Given the description of an element on the screen output the (x, y) to click on. 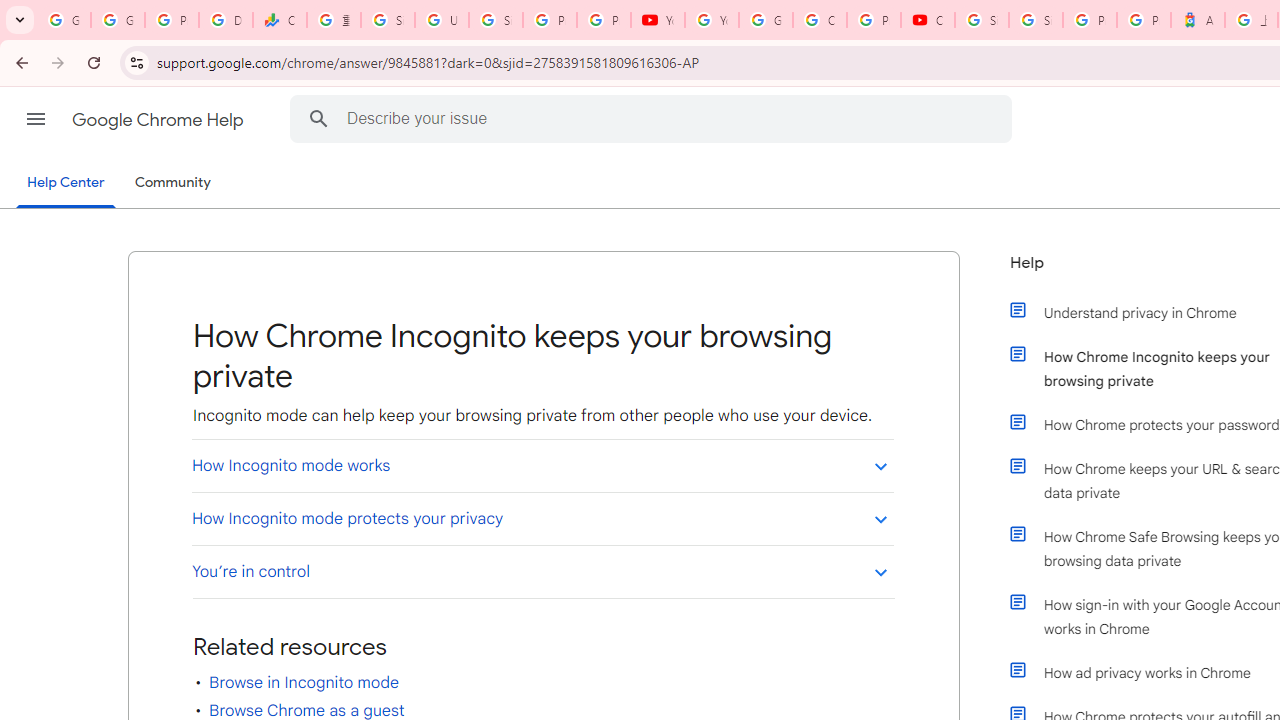
Sign in - Google Accounts (387, 20)
Google Account Help (765, 20)
YouTube (657, 20)
YouTube (711, 20)
Currencies - Google Finance (280, 20)
Create your Google Account (819, 20)
